Given the description of an element on the screen output the (x, y) to click on. 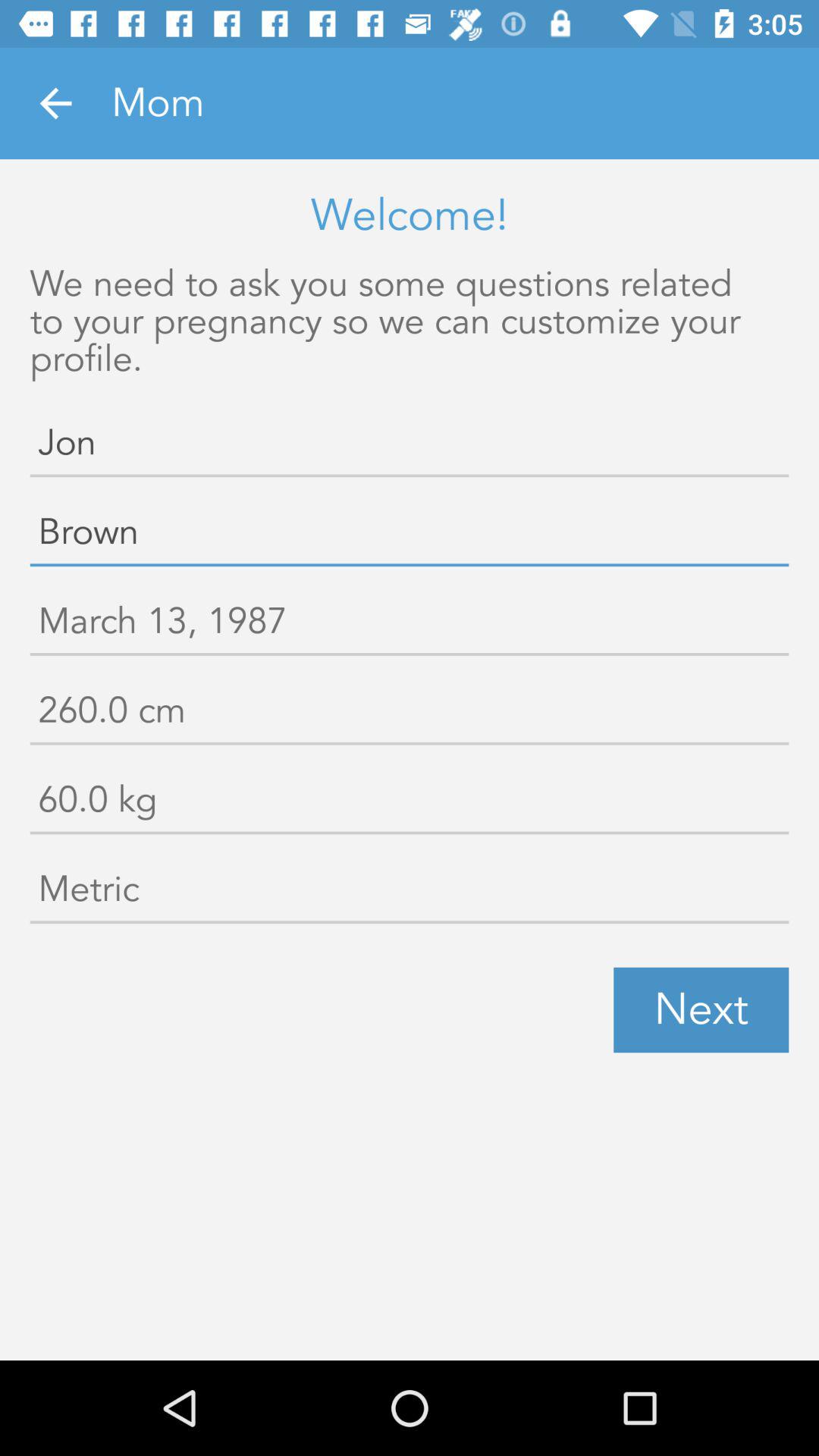
press next item (700, 1009)
